Given the description of an element on the screen output the (x, y) to click on. 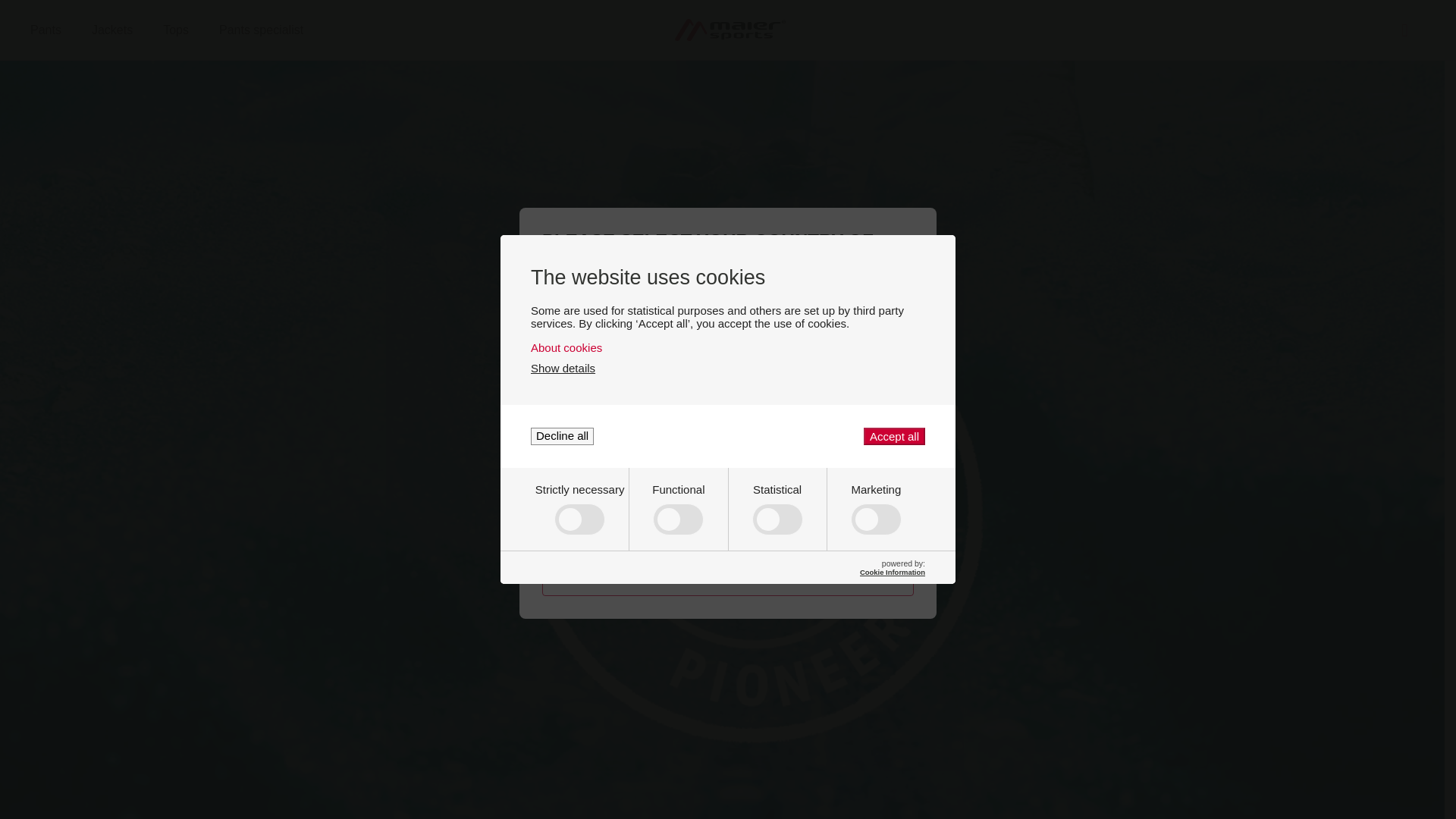
About cookies (727, 347)
Show details (563, 367)
Cookie Information (174, 30)
Decline all (892, 572)
Accept all (562, 436)
